Given the description of an element on the screen output the (x, y) to click on. 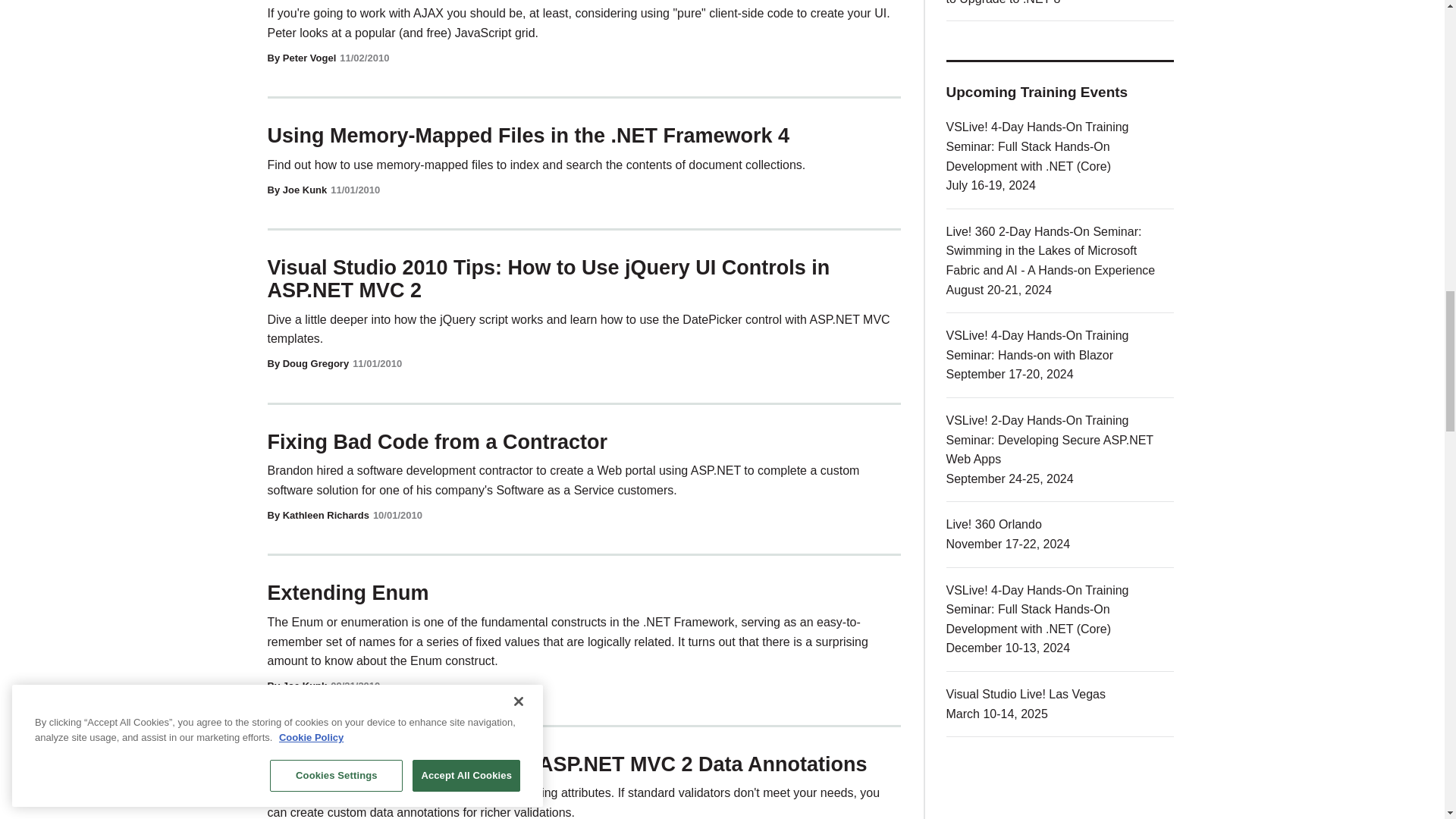
3rd party ad content (1059, 796)
